Given the description of an element on the screen output the (x, y) to click on. 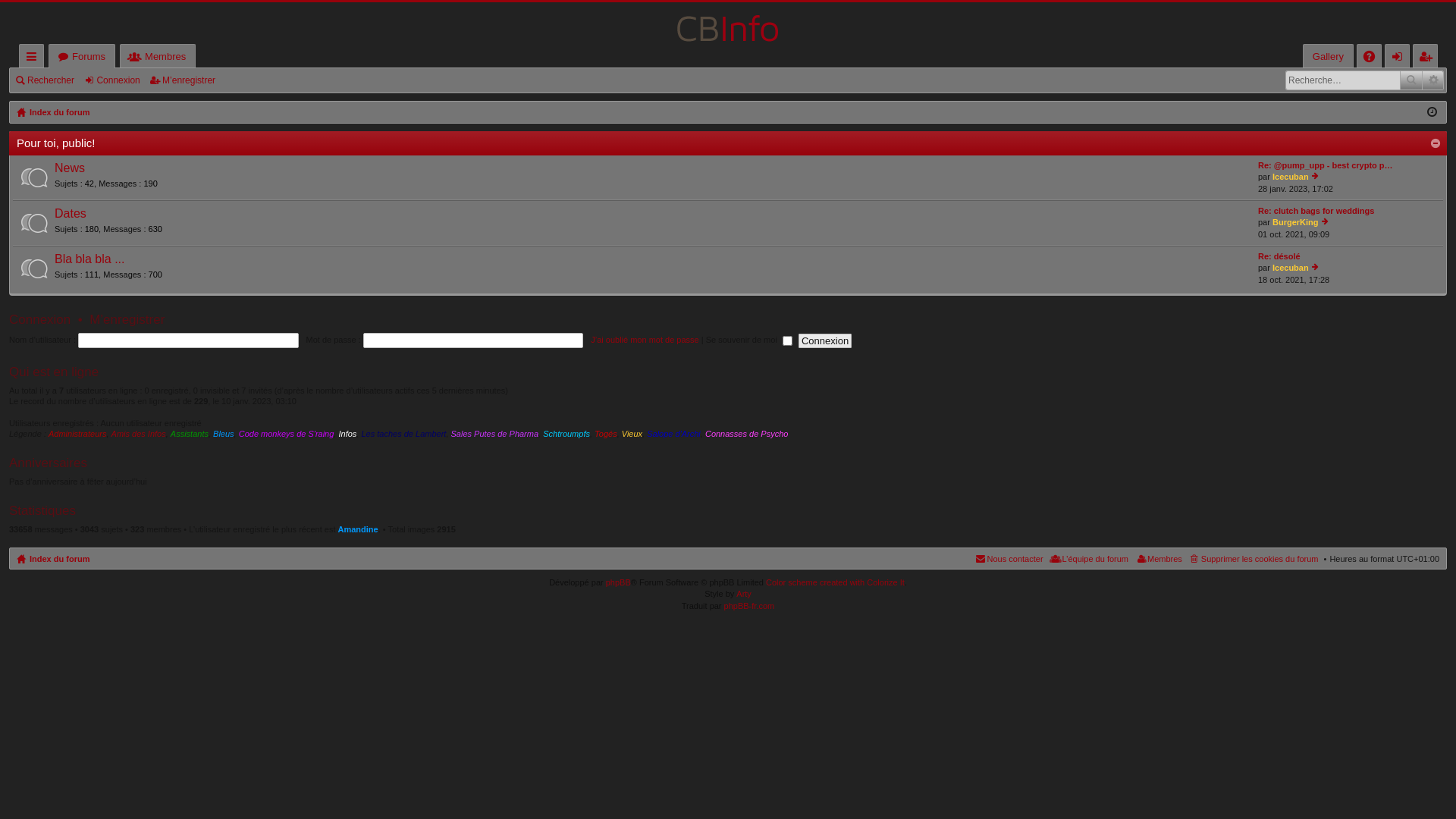
Bleus Element type: text (223, 433)
Amandine Element type: text (358, 528)
Salope d'Archi Element type: text (673, 433)
Gallery Element type: text (1327, 56)
Pour toi, public! Element type: text (55, 142)
Rechercher Element type: text (46, 80)
News Element type: text (69, 168)
Les taches de Lambert Element type: text (402, 433)
Voir le dernier message Element type: text (1315, 176)
Membres Element type: text (1157, 558)
Qui est en ligne Element type: text (53, 371)
Infos Element type: text (347, 433)
Membres Element type: text (157, 56)
Voir le dernier message Element type: text (1315, 267)
Index du forum Element type: text (52, 558)
Arty Element type: text (743, 593)
Connexion Element type: text (113, 80)
Dates Element type: text (70, 214)
Index du forum Element type: hover (727, 22)
Voir le dernier message Element type: text (1325, 221)
Vieux Element type: text (631, 433)
Nous sommes le 24 nov. 2023, 08:12 Element type: hover (1432, 111)
Supprimer les cookies du forum Element type: text (1252, 558)
Rechercher Element type: text (1410, 80)
Index du forum Element type: text (52, 111)
Assistants Element type: text (189, 433)
Code monkeys de S'raing Element type: text (286, 433)
Sales Putes de Pharma Element type: text (494, 433)
Administrateurs Element type: text (77, 433)
Mot de passe Element type: hover (473, 340)
BurgerKing Element type: text (1295, 221)
Amis des Infos Element type: text (138, 433)
Forums Element type: text (81, 56)
Connasses de Psycho Element type: text (746, 433)
Connexion Element type: text (824, 340)
Icecuban Element type: text (1290, 267)
Nous contacter Element type: text (1008, 558)
Connexion Element type: text (39, 319)
Connexion Element type: text (1396, 56)
Icecuban Element type: text (1290, 176)
phpBB Element type: text (617, 581)
FAQ Element type: text (1368, 56)
Bla bla bla ... Element type: text (89, 259)
Schtroumpfs Element type: text (565, 433)
Color scheme created with Colorize It Element type: text (834, 581)
phpBB-fr.com Element type: text (749, 605)
Re: clutch bags for weddings Element type: text (1316, 210)
